Given the description of an element on the screen output the (x, y) to click on. 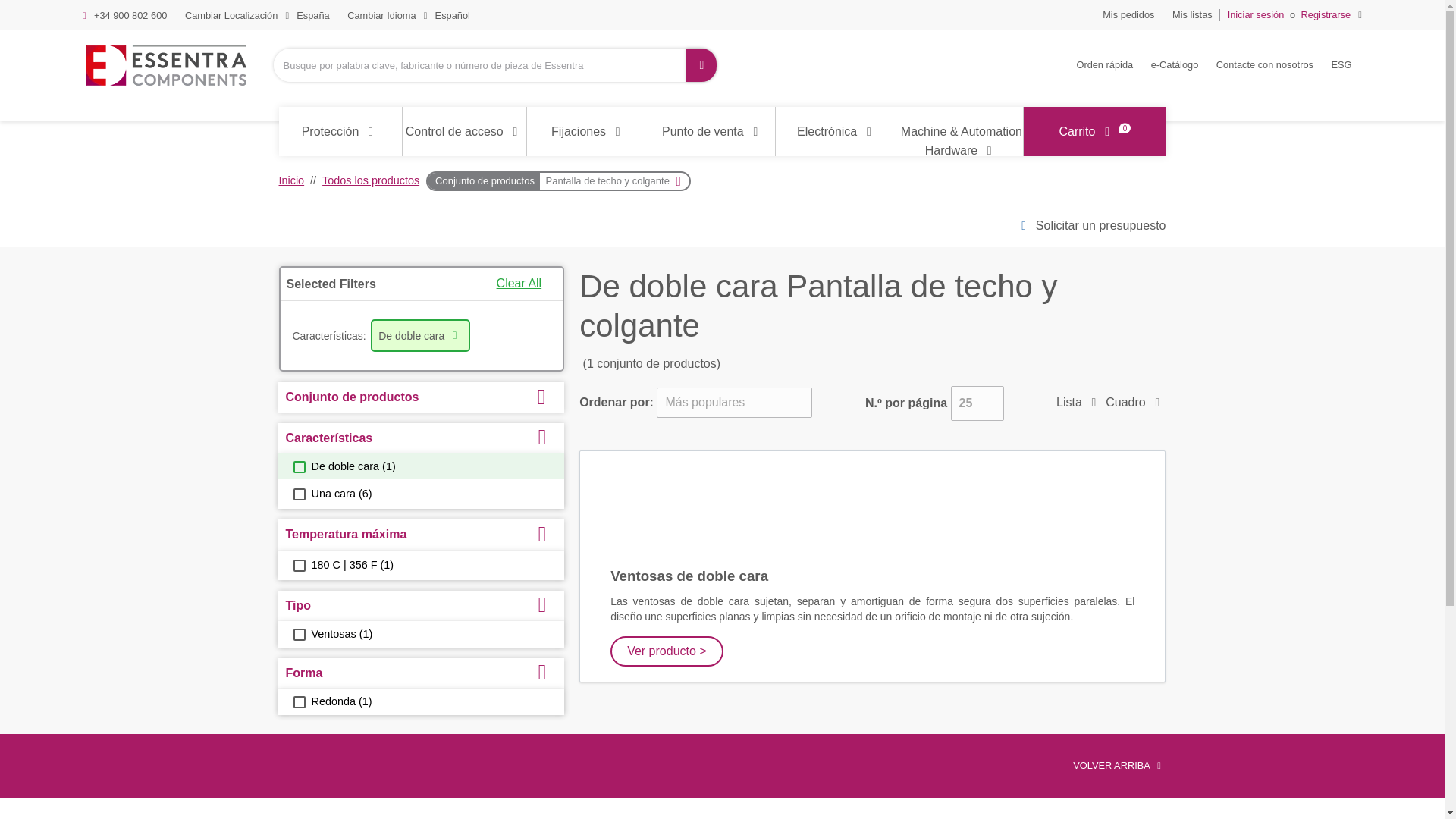
Redonda (298, 702)
De doble cara (298, 467)
Una cara (298, 494)
Ventosas (298, 634)
